Given the description of an element on the screen output the (x, y) to click on. 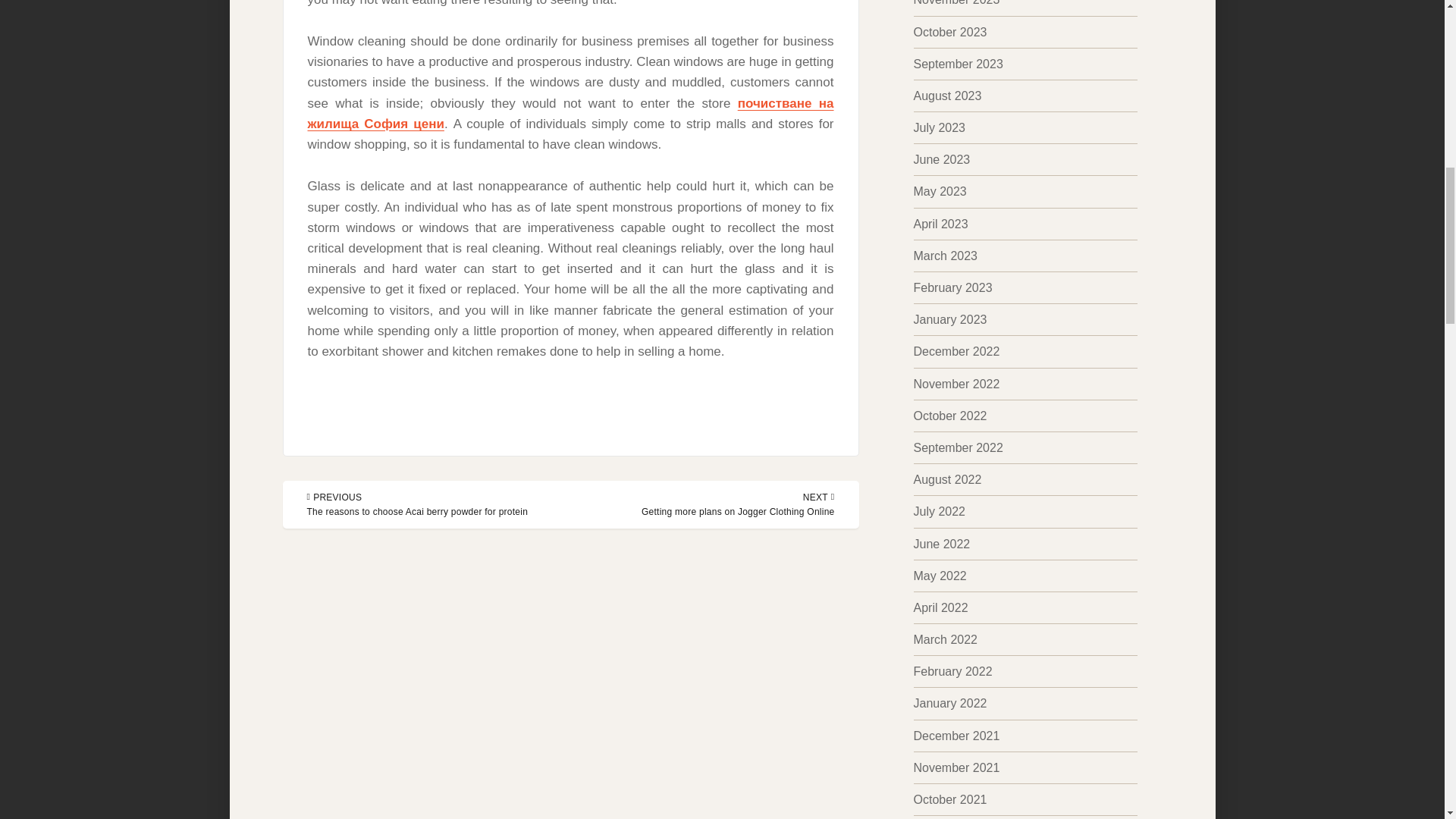
June 2023 (940, 159)
April 2023 (940, 223)
August 2023 (946, 95)
September 2023 (957, 63)
November 2023 (955, 2)
February 2023 (951, 287)
July 2023 (938, 127)
March 2023 (944, 255)
October 2023 (738, 504)
May 2023 (949, 31)
